Given the description of an element on the screen output the (x, y) to click on. 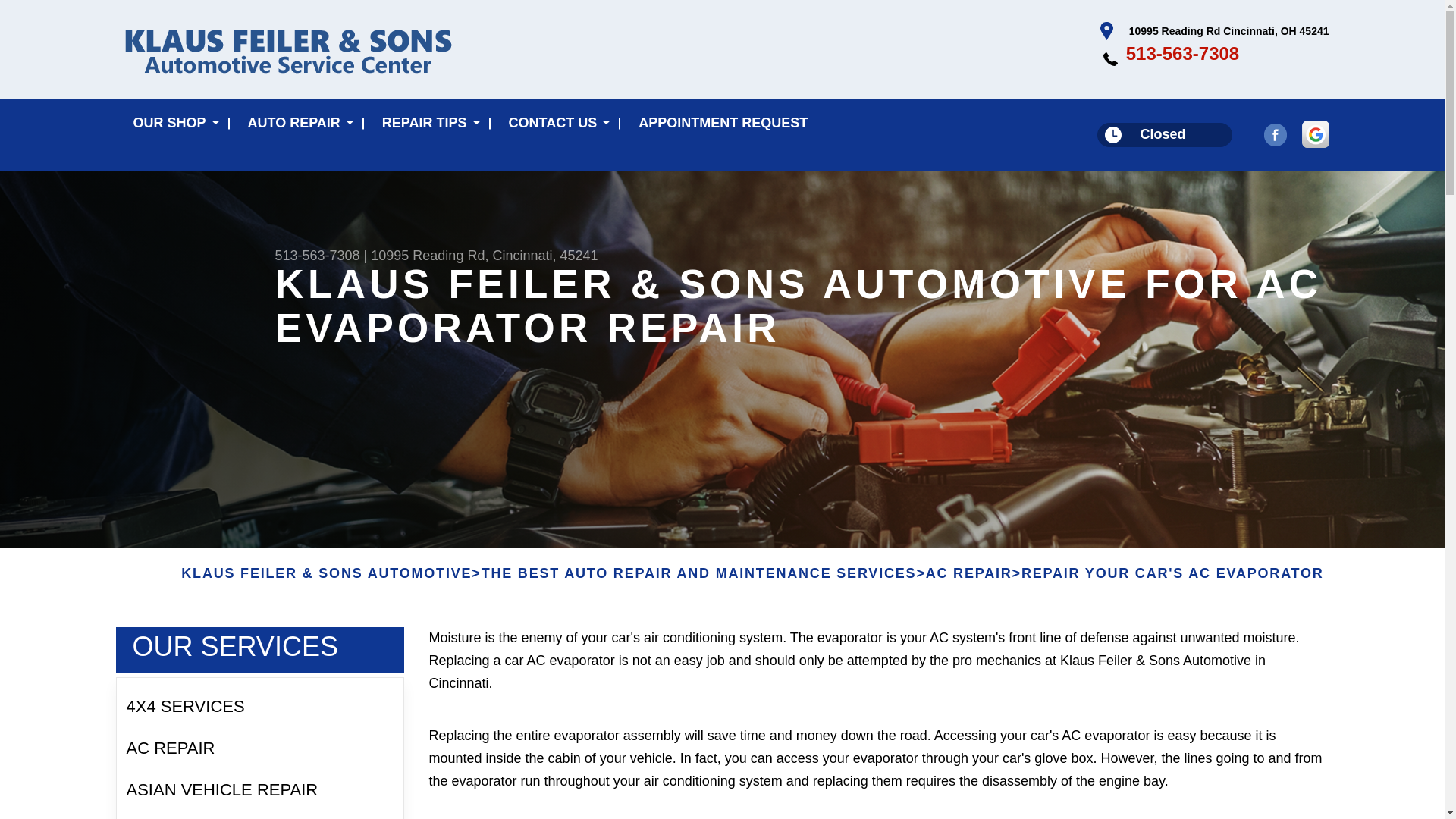
AUTO REPAIR (297, 123)
Closed (1164, 134)
CONTACT US (556, 123)
APPOINTMENT REQUEST (723, 123)
REPAIR TIPS (428, 123)
513-563-7308 (1182, 53)
OUR SHOP (172, 123)
